Given the description of an element on the screen output the (x, y) to click on. 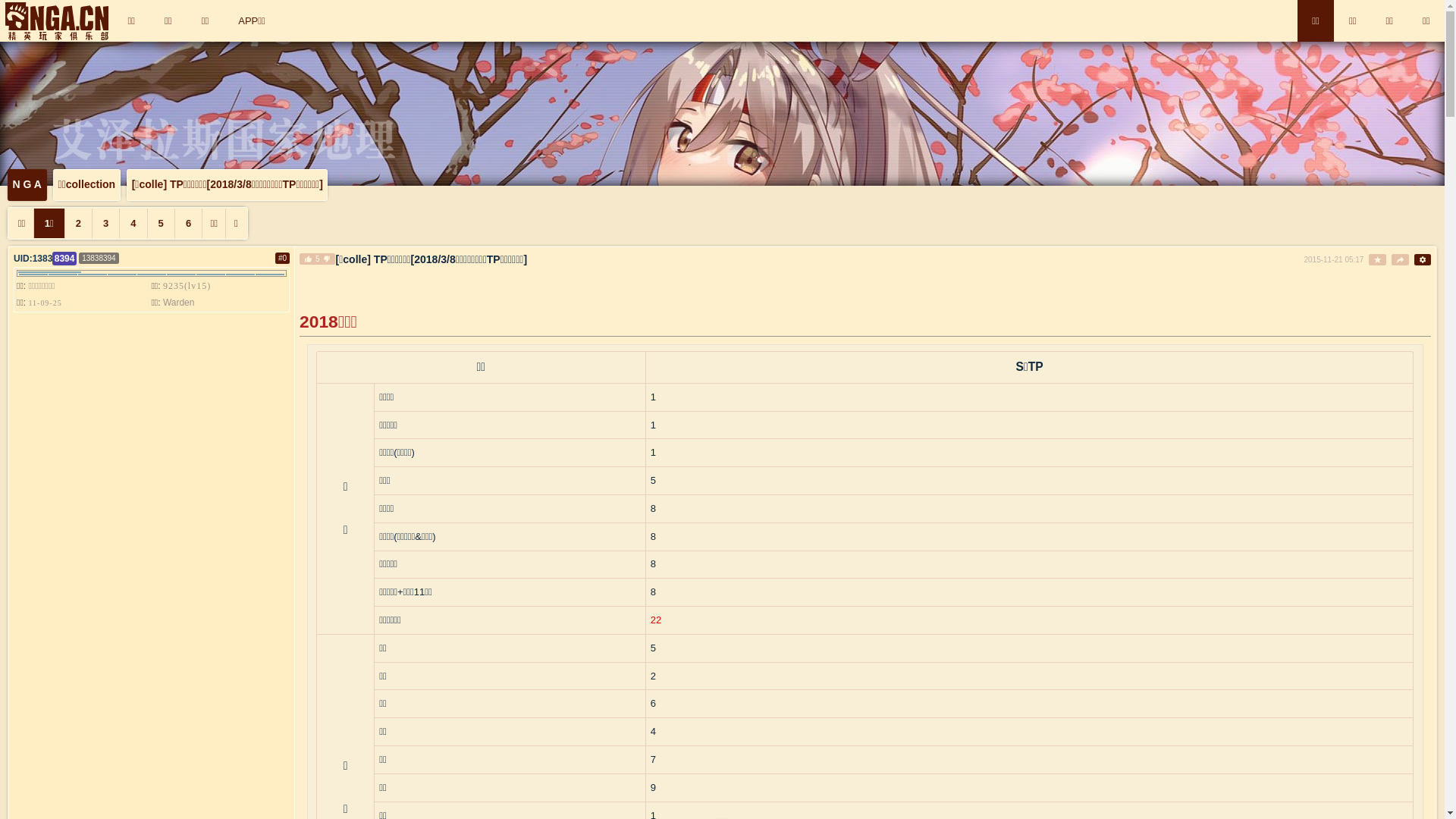
N G A Element type: text (27, 184)
UID:13838394 Element type: text (44, 258)
 5  Element type: text (160, 223)
   Element type: text (1377, 259)
   Element type: text (1422, 259)
 4  Element type: text (132, 223)
   Element type: text (1399, 259)
13838394 Element type: text (98, 257)
#0 Element type: text (282, 257)
 2  Element type: text (77, 223)
 6  Element type: text (187, 223)
 3  Element type: text (105, 223)
